Given the description of an element on the screen output the (x, y) to click on. 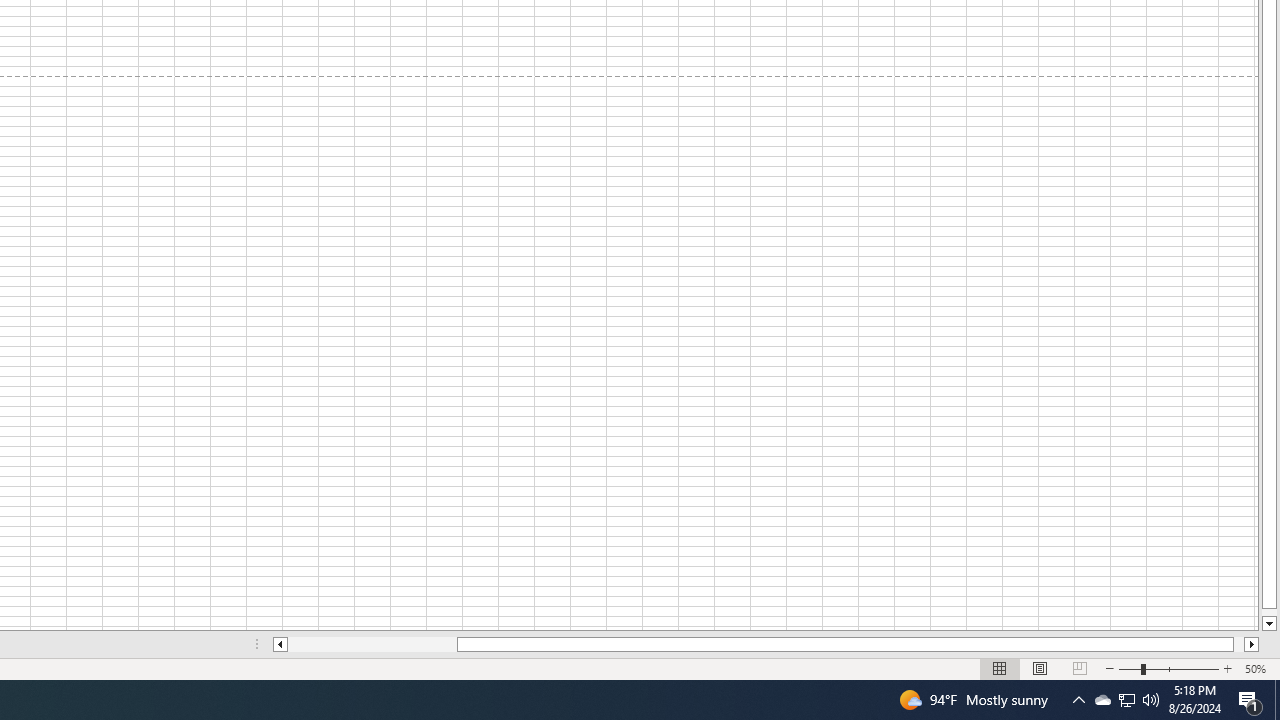
Page left (372, 644)
